Given the description of an element on the screen output the (x, y) to click on. 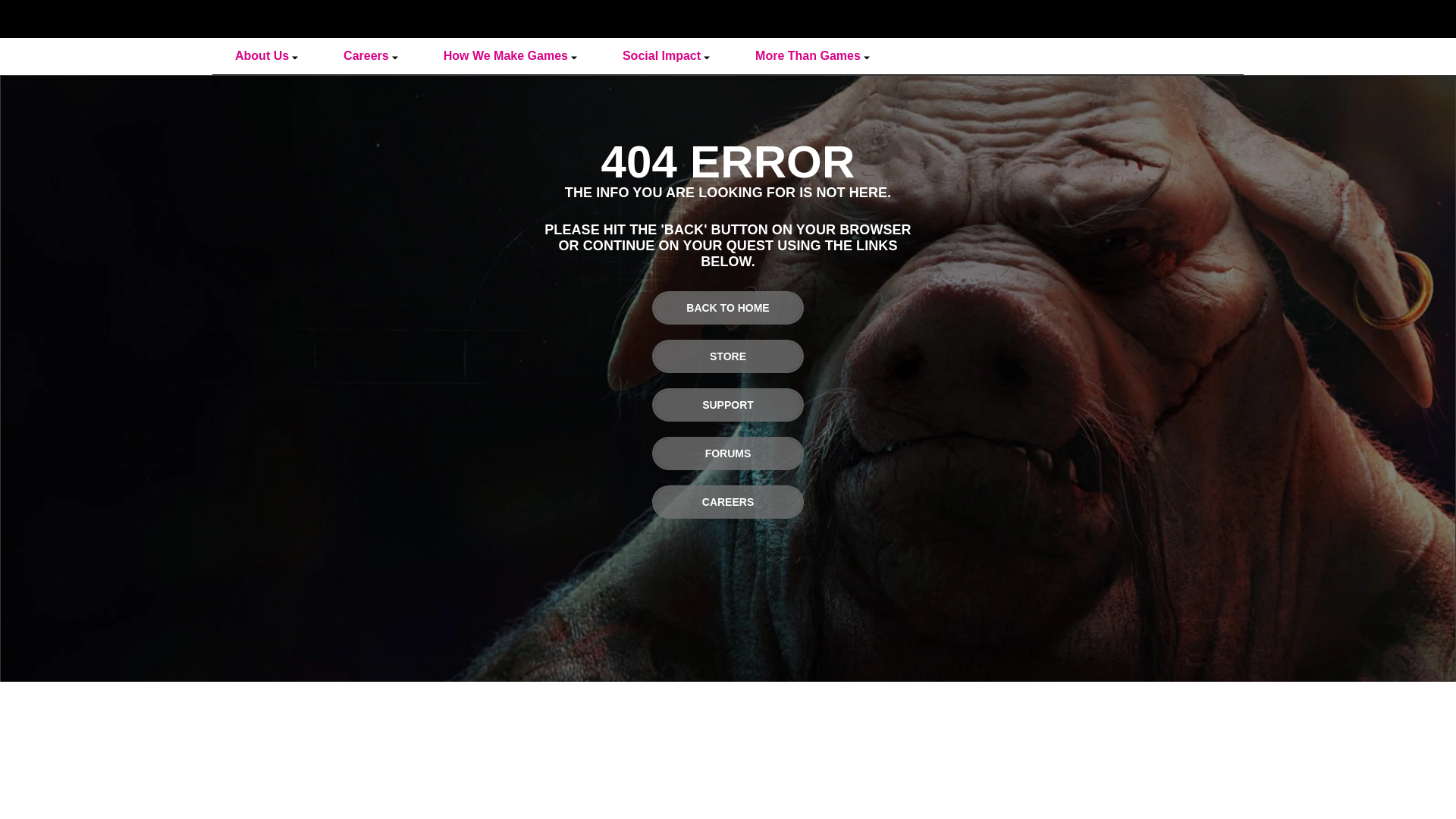
BACK TO HOME (727, 307)
More Than Games (812, 55)
Social Impact (665, 55)
About Us (266, 55)
CAREERS (727, 501)
STORE (727, 356)
Careers (370, 55)
FORUMS (727, 453)
SUPPORT (727, 404)
How We Make Games (509, 55)
